Given the description of an element on the screen output the (x, y) to click on. 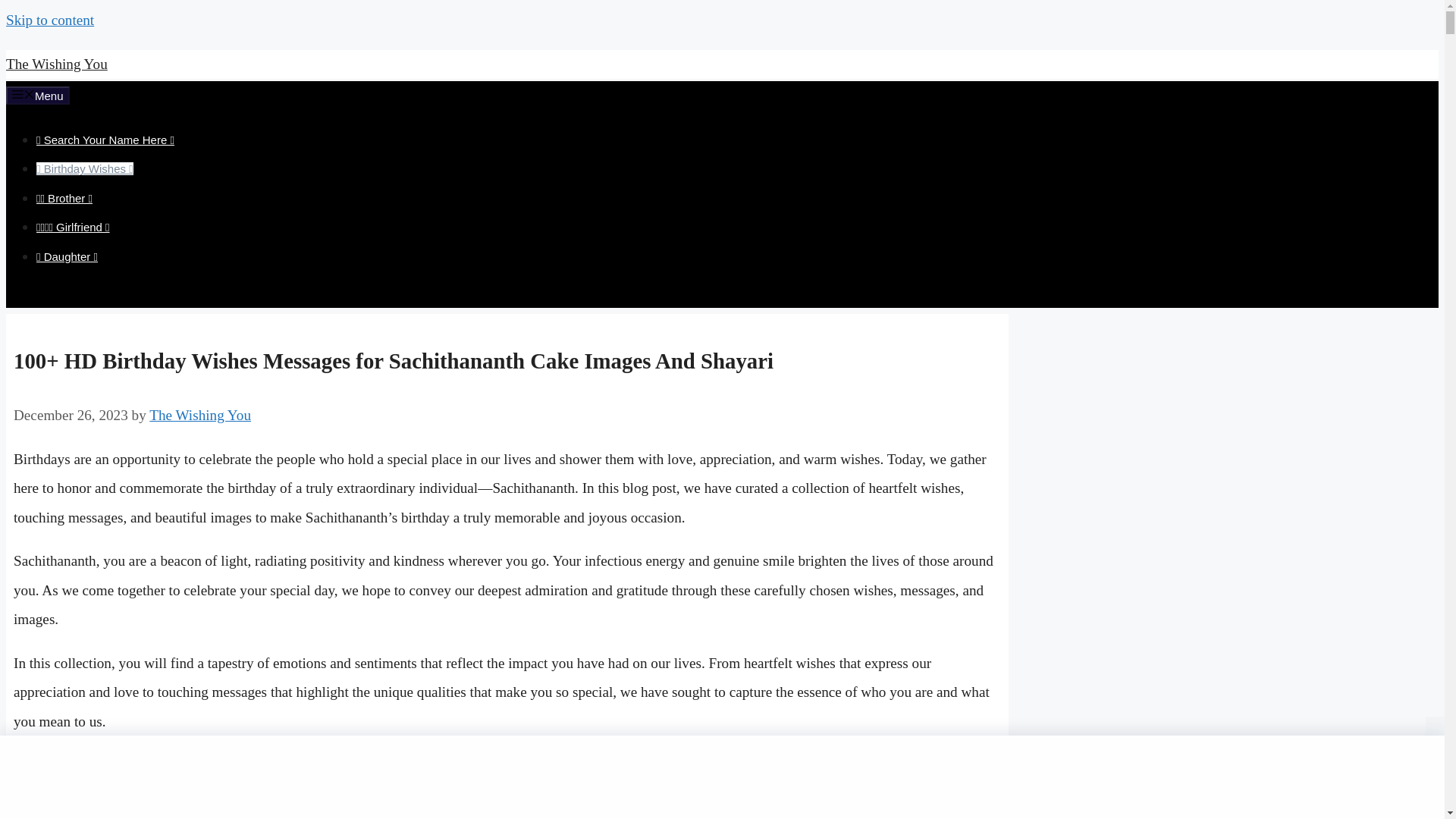
View all posts by The Wishing You (199, 415)
The Wishing You (199, 415)
Skip to content (49, 19)
The Wishing You (56, 64)
Menu (37, 95)
Skip to content (49, 19)
